Given the description of an element on the screen output the (x, y) to click on. 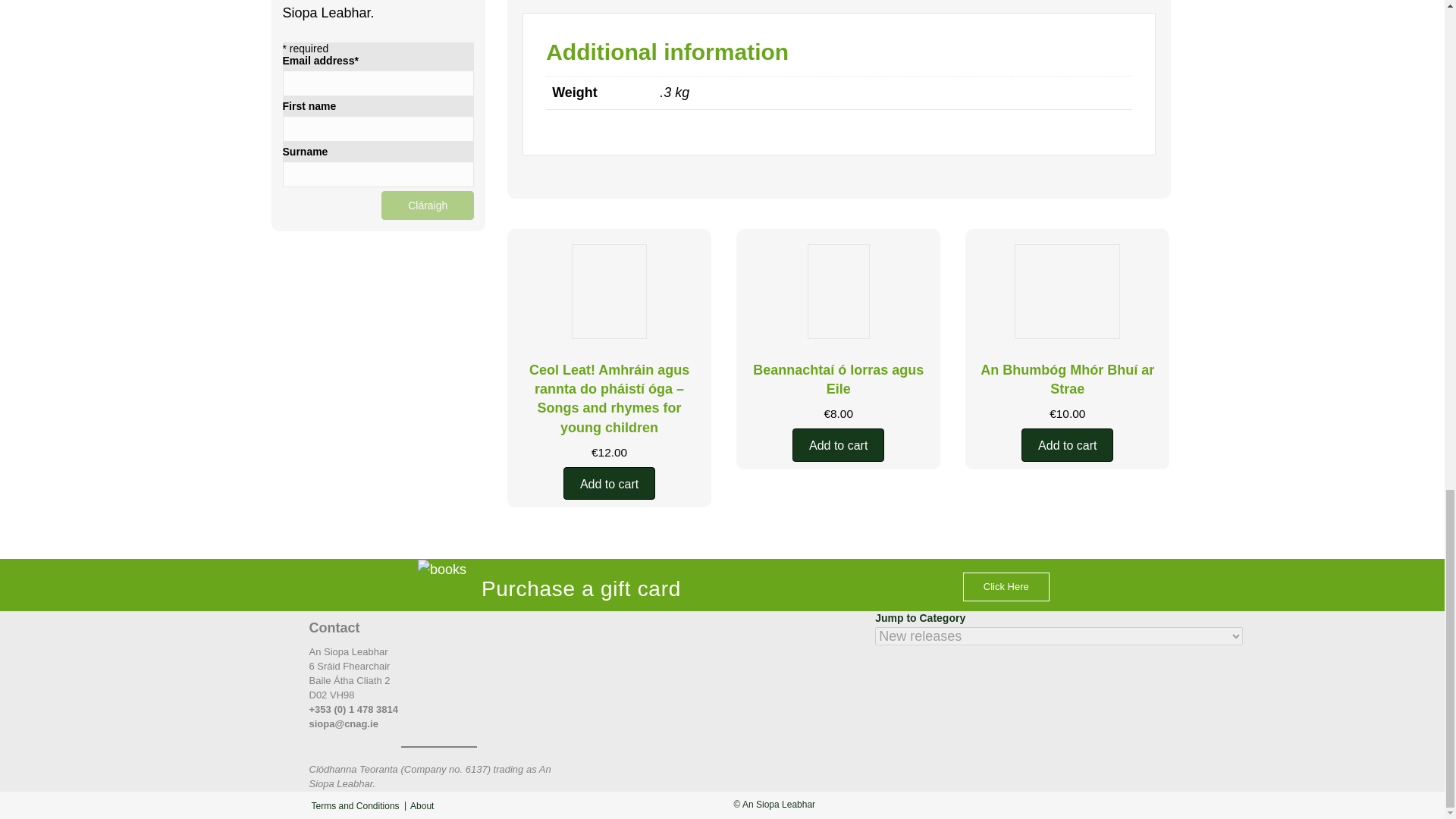
book-fan (441, 569)
